Given the description of an element on the screen output the (x, y) to click on. 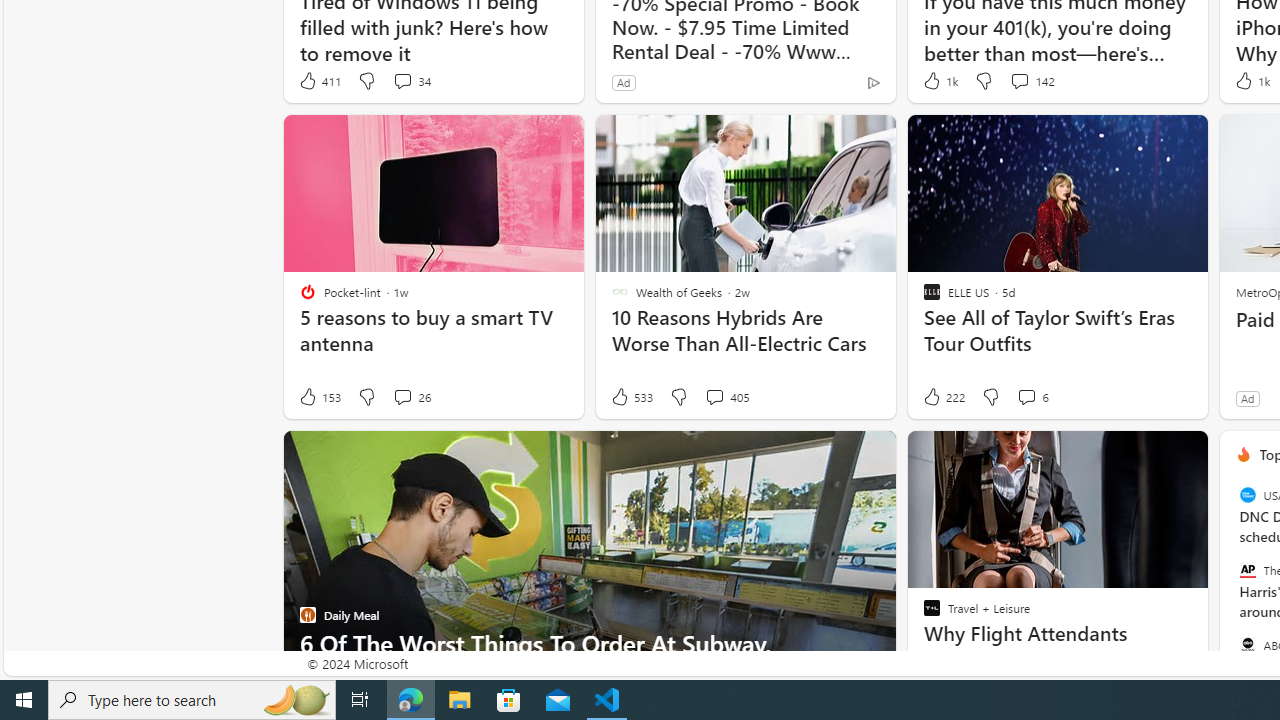
ABC News (1247, 644)
Dislike (989, 397)
1k Like (1250, 80)
See more (1183, 454)
View comments 142 Comment (1031, 80)
153 Like (319, 397)
533 Like (630, 397)
411 Like (319, 80)
View comments 6 Comment (1026, 396)
Ad Choice (873, 82)
View comments 34 Comment (402, 80)
Hide this story (1147, 454)
View comments 26 Comment (411, 397)
USA TODAY (1247, 494)
View comments 6 Comment (1032, 397)
